Given the description of an element on the screen output the (x, y) to click on. 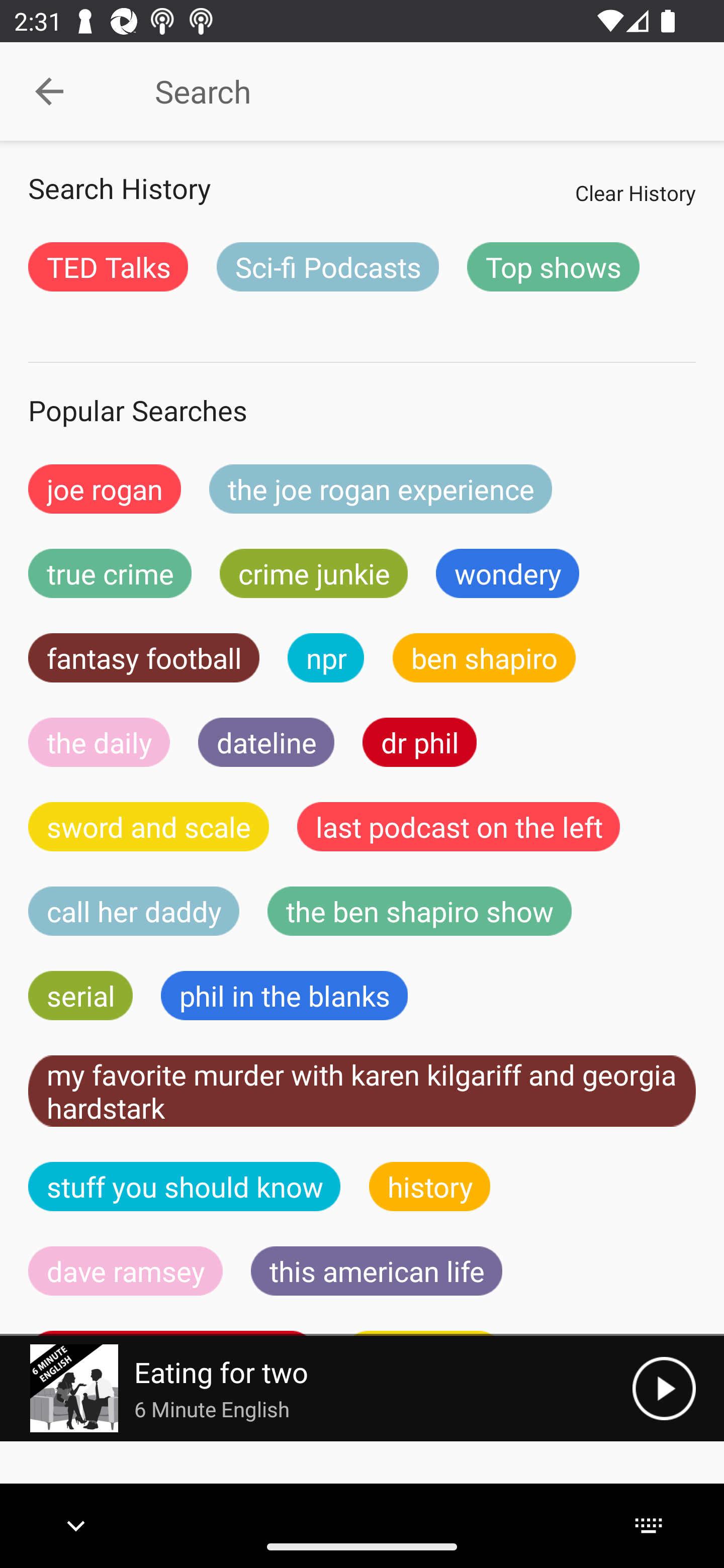
Collapse (49, 91)
Search (407, 91)
Clear History (634, 192)
TED Talks (108, 266)
Sci-fi Podcasts (327, 266)
Top shows (552, 266)
joe rogan (104, 489)
the joe rogan experience (380, 489)
true crime (109, 572)
crime junkie (313, 572)
wondery (507, 572)
fantasy football (143, 657)
npr (325, 657)
ben shapiro (483, 657)
the daily (99, 742)
dateline (266, 742)
dr phil (419, 742)
sword and scale (148, 826)
last podcast on the left (458, 826)
call her daddy (133, 910)
the ben shapiro show (419, 910)
serial (80, 995)
phil in the blanks (283, 995)
stuff you should know (184, 1185)
history (429, 1185)
dave ramsey (125, 1270)
this american life (376, 1270)
Picture Eating for two 6 Minute English (316, 1388)
Play (663, 1388)
